Given the description of an element on the screen output the (x, y) to click on. 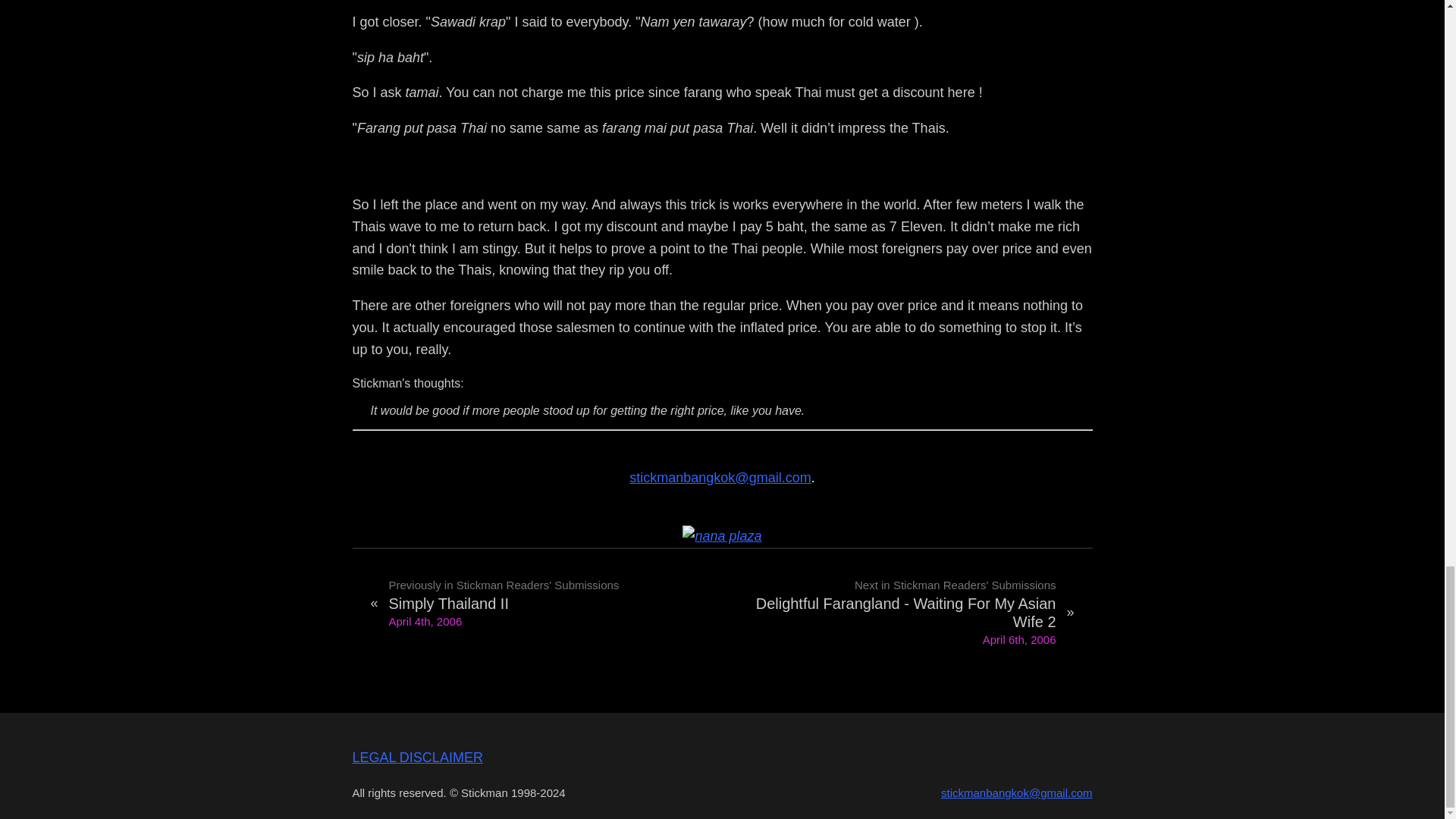
LEGAL DISCLAIMER (416, 757)
